Given the description of an element on the screen output the (x, y) to click on. 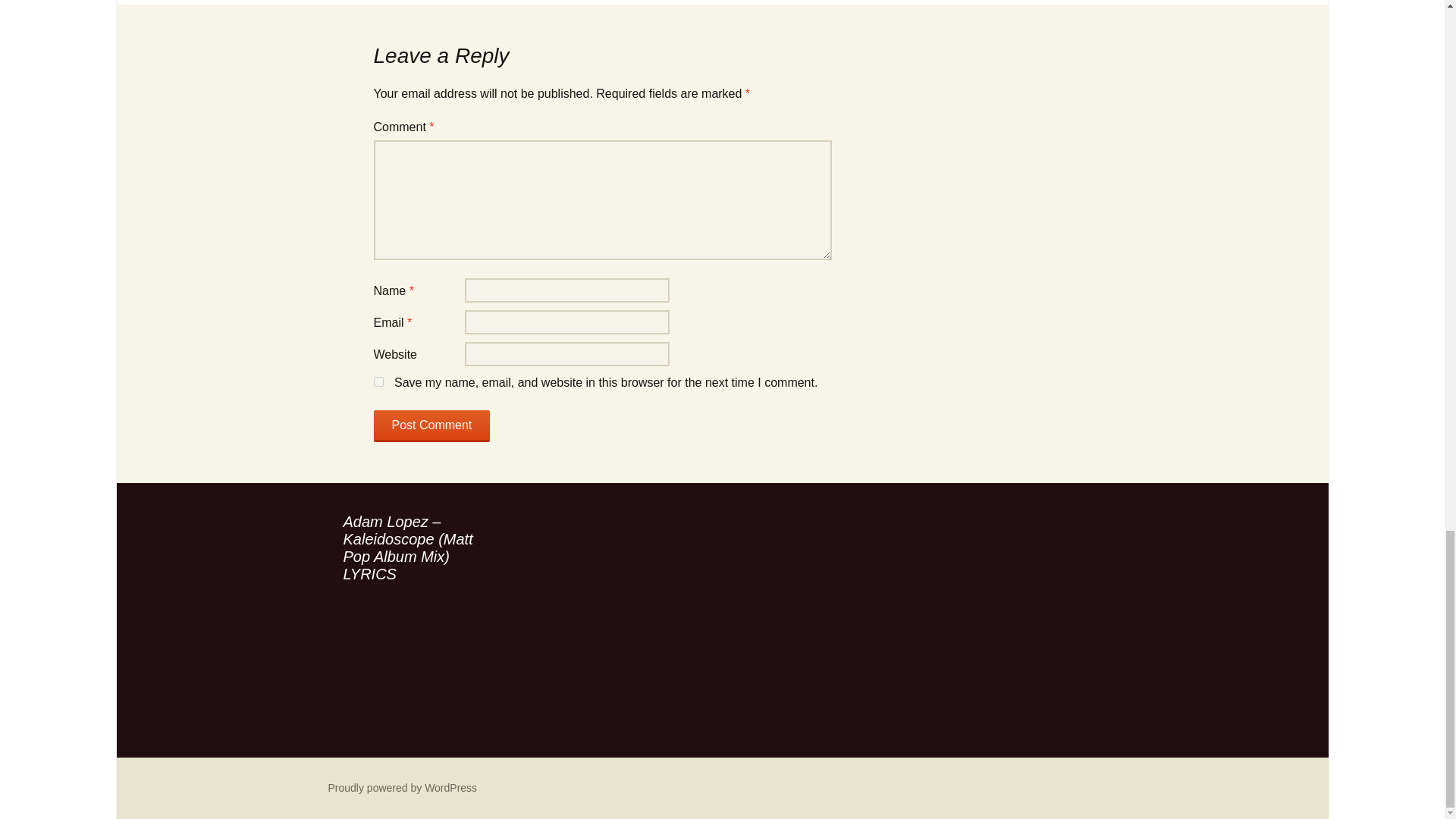
yes (377, 381)
Post Comment (430, 426)
Proudly powered by WordPress (402, 787)
Post Comment (430, 426)
